Given the description of an element on the screen output the (x, y) to click on. 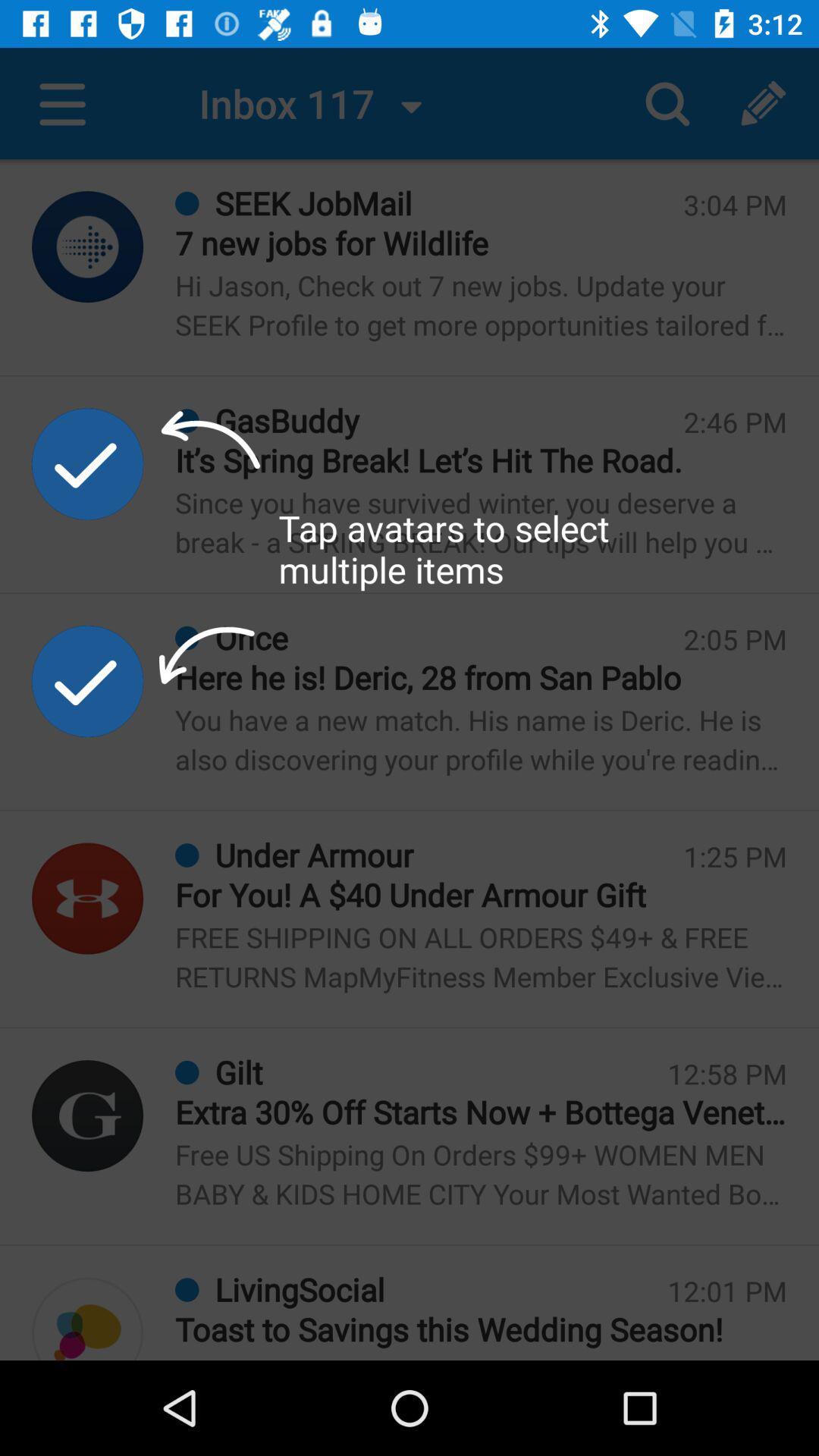
select this item (87, 681)
